Given the description of an element on the screen output the (x, y) to click on. 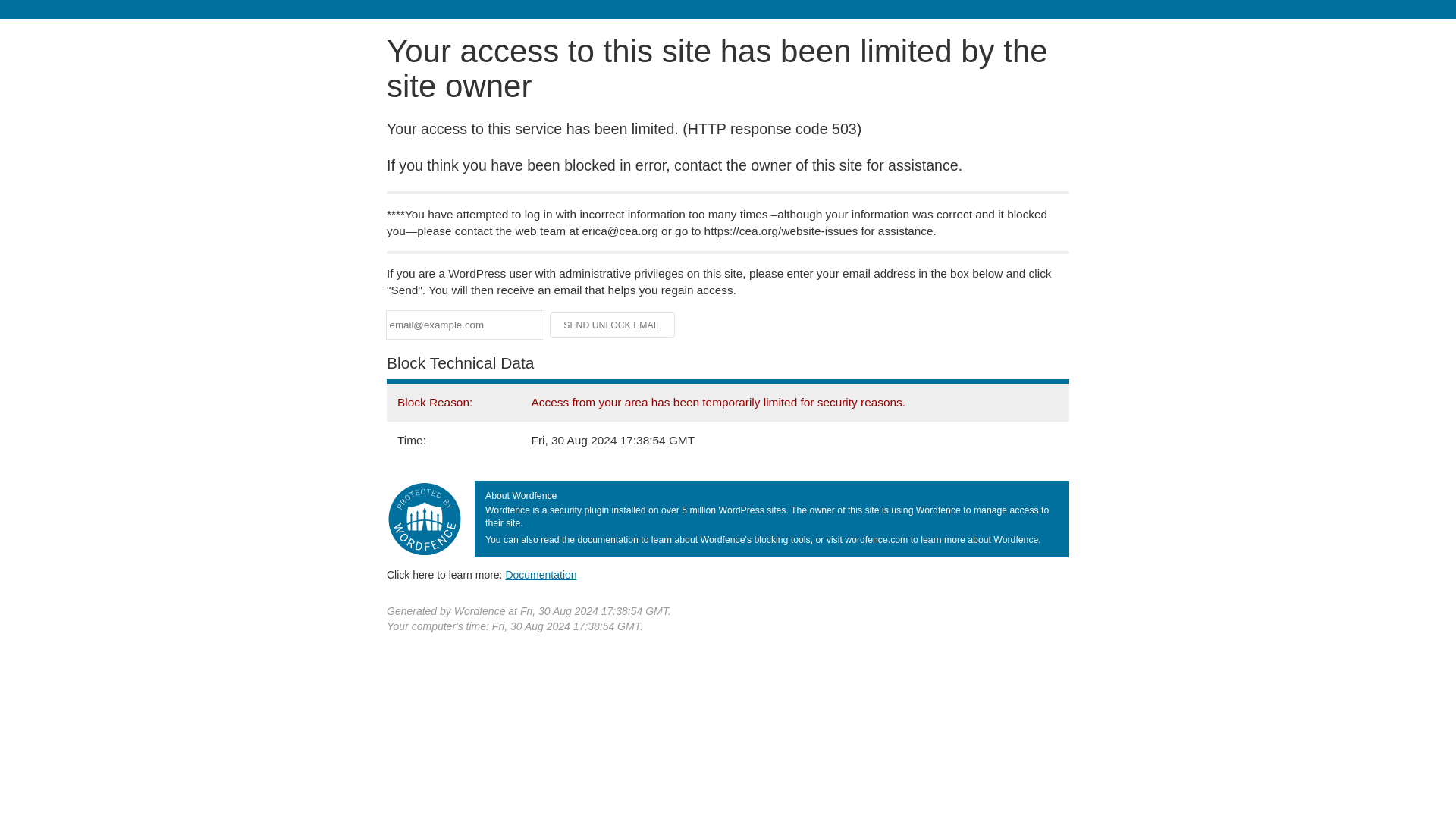
Send Unlock Email (612, 325)
Send Unlock Email (612, 325)
Documentation (540, 574)
